Given the description of an element on the screen output the (x, y) to click on. 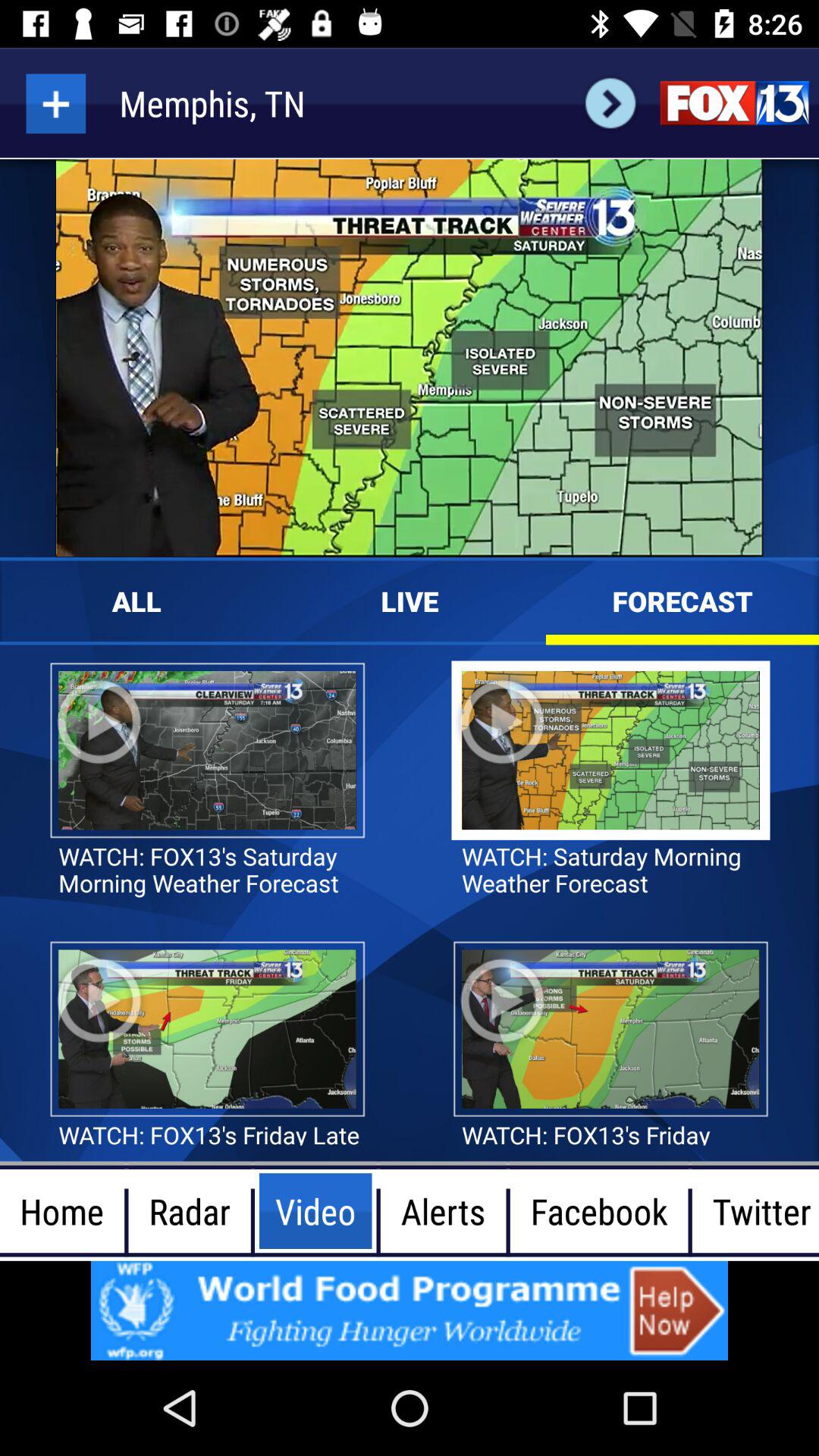
go to previous (610, 103)
